Given the description of an element on the screen output the (x, y) to click on. 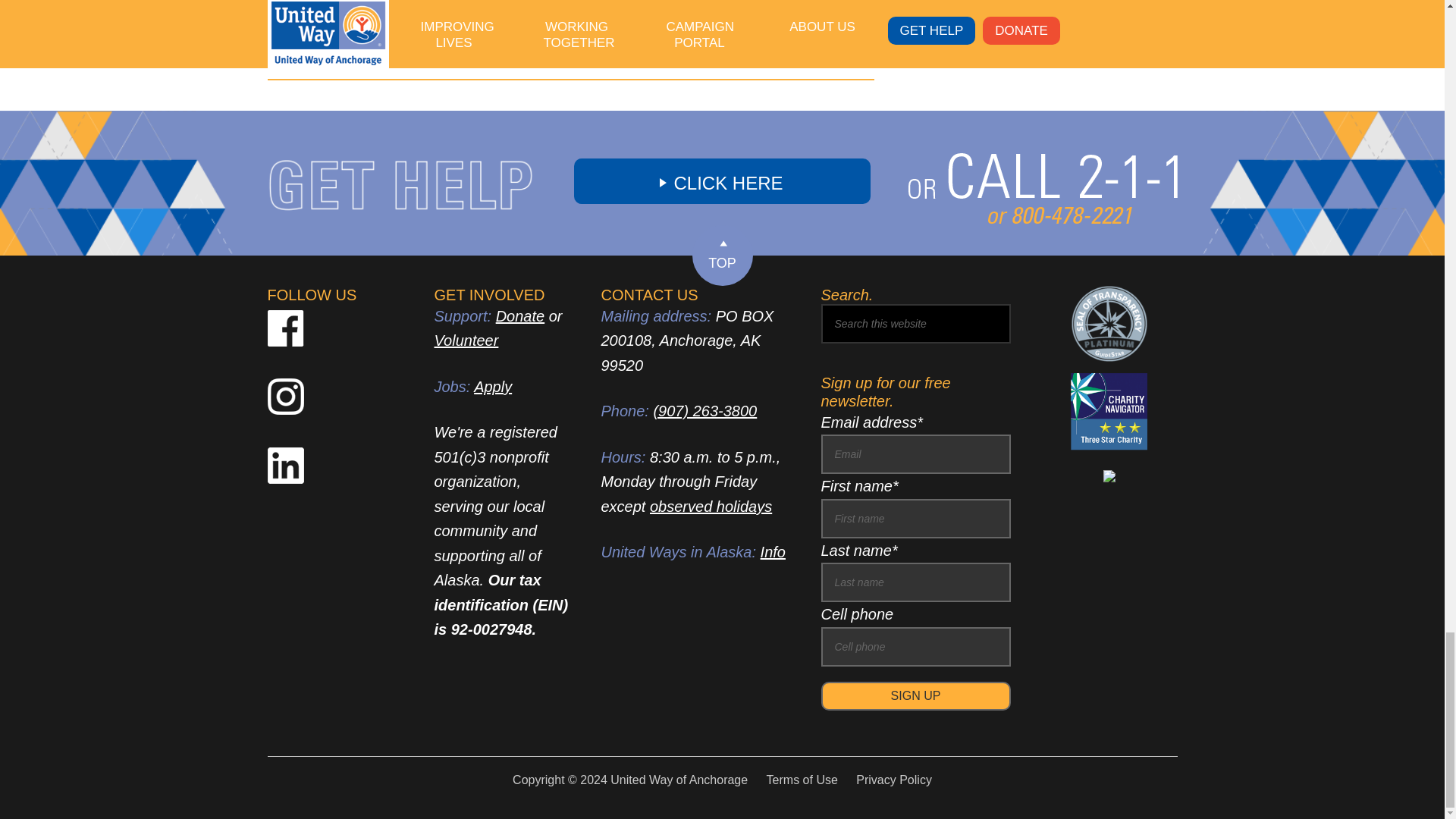
Get Help at the 211 website. (721, 180)
Top of Page (721, 255)
TOP (721, 255)
LinkedIn (539, 37)
Facebook (569, 37)
Apply (493, 386)
View our Terms of Use (794, 779)
View our Privacy Policy (886, 779)
Call to get help. (1043, 239)
Donate (520, 315)
Sign up (915, 695)
Volunteer (465, 340)
